Given the description of an element on the screen output the (x, y) to click on. 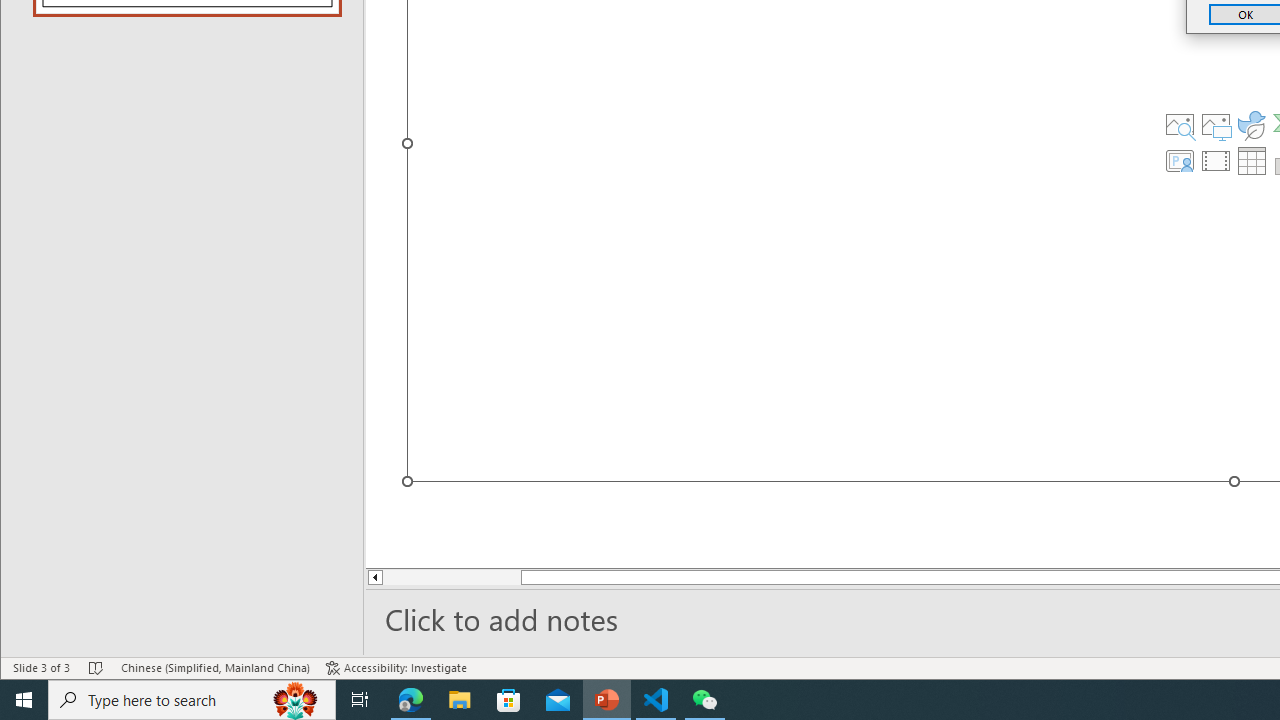
Insert Table (1252, 160)
Pictures (1215, 124)
Insert Video (1215, 160)
Insert Cameo (1179, 160)
Page up (438, 577)
WeChat - 1 running window (704, 699)
